Given the description of an element on the screen output the (x, y) to click on. 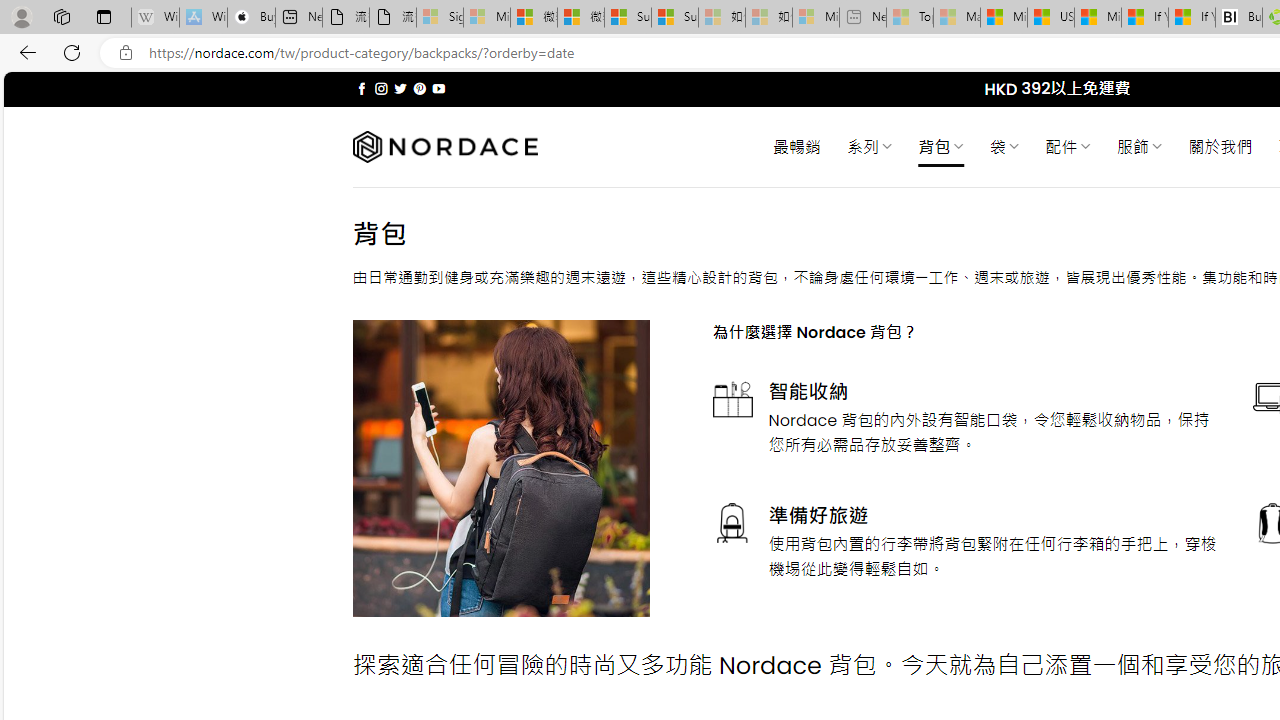
Microsoft account | Account Checkup - Sleeping (815, 17)
